Given the description of an element on the screen output the (x, y) to click on. 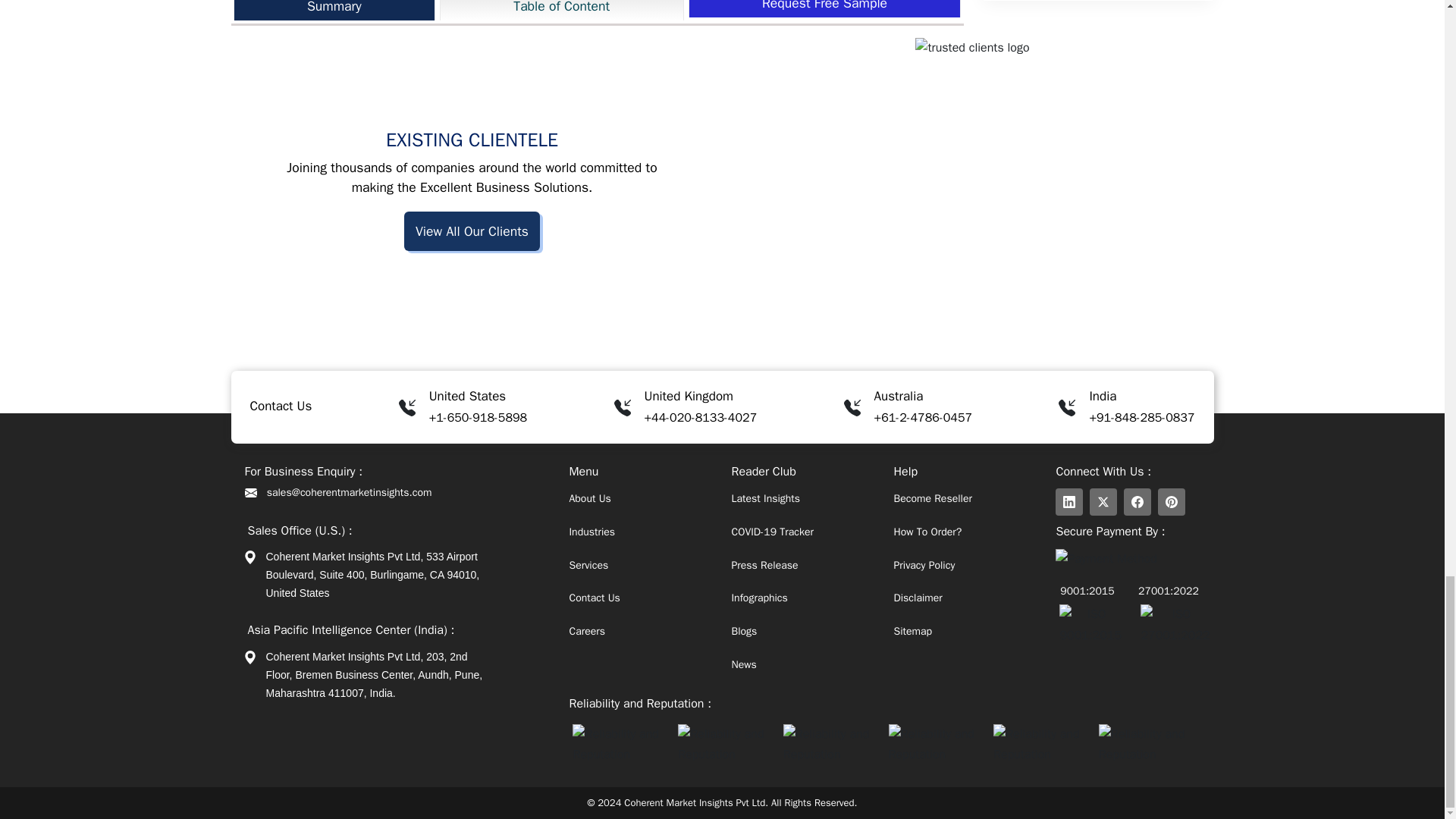
Vacuum Packaging Market Market News (346, 13)
